Given the description of an element on the screen output the (x, y) to click on. 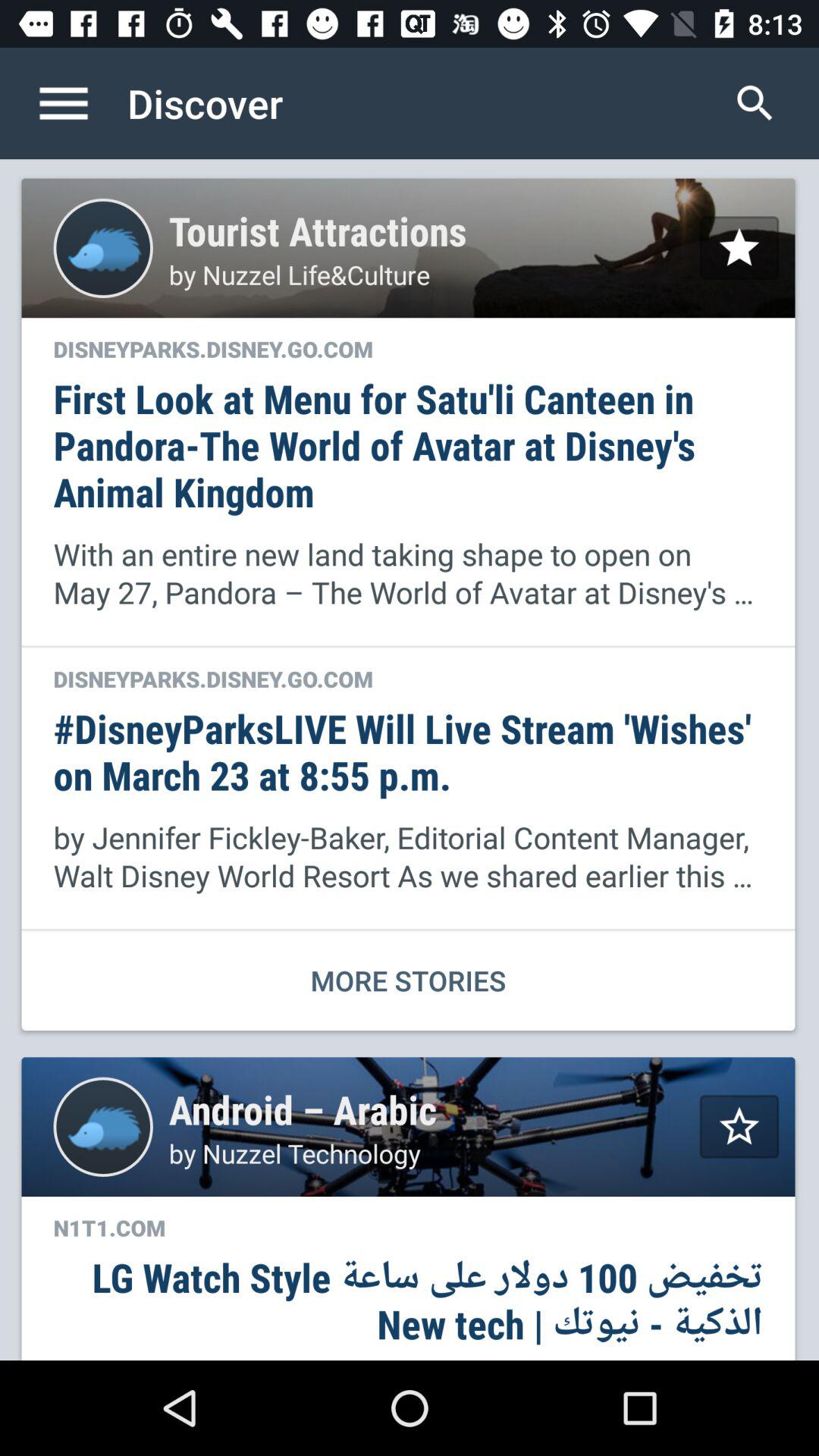
menu options (79, 103)
